Given the description of an element on the screen output the (x, y) to click on. 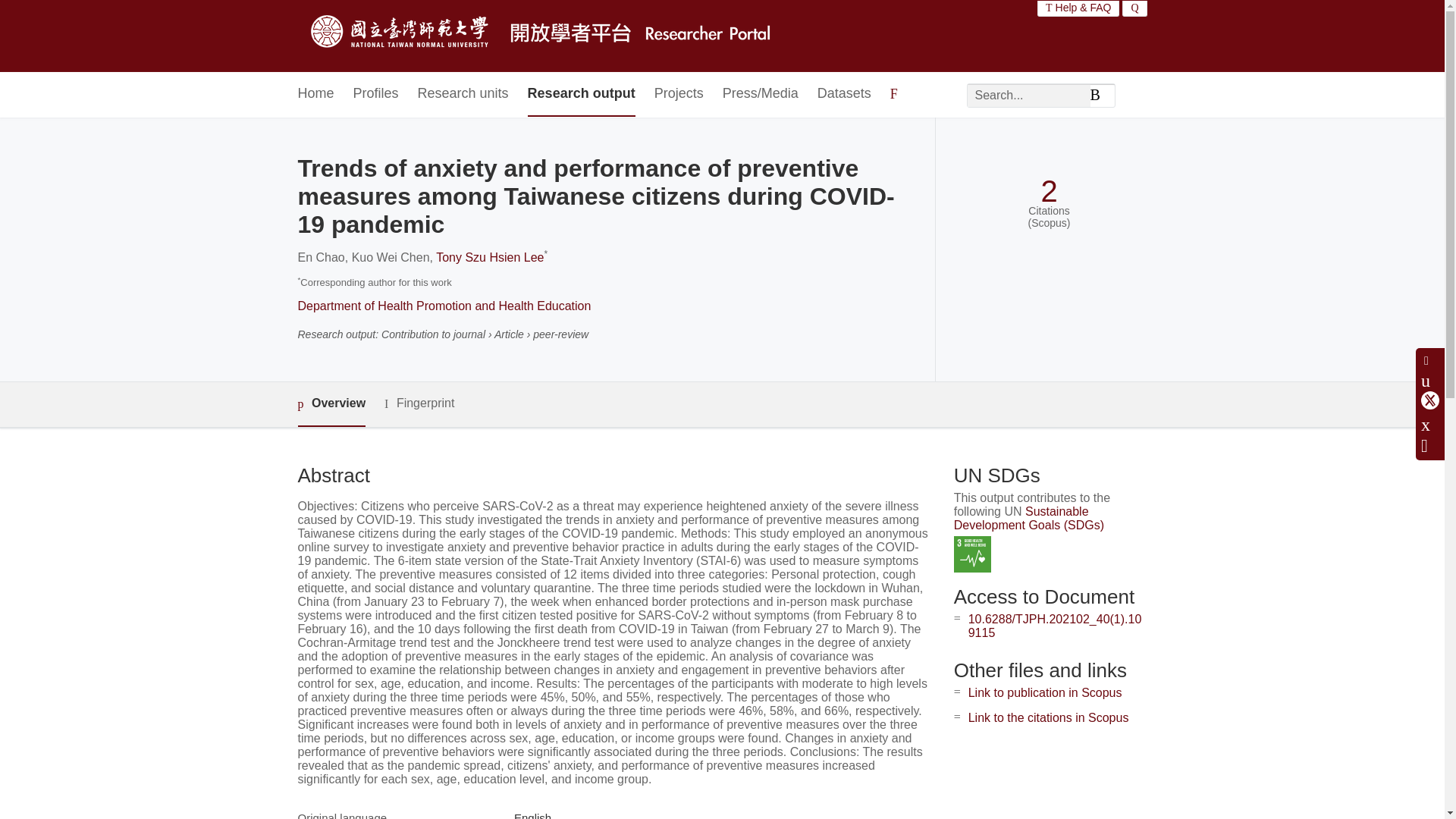
Research units (462, 94)
Projects (678, 94)
Datasets (843, 94)
Department of Health Promotion and Health Education (444, 305)
National Taiwan Normal University Home (543, 35)
Fingerprint (419, 403)
Link to publication in Scopus (1045, 692)
Research output (580, 94)
SDG 3 - Good Health and Well-being (972, 554)
